Given the description of an element on the screen output the (x, y) to click on. 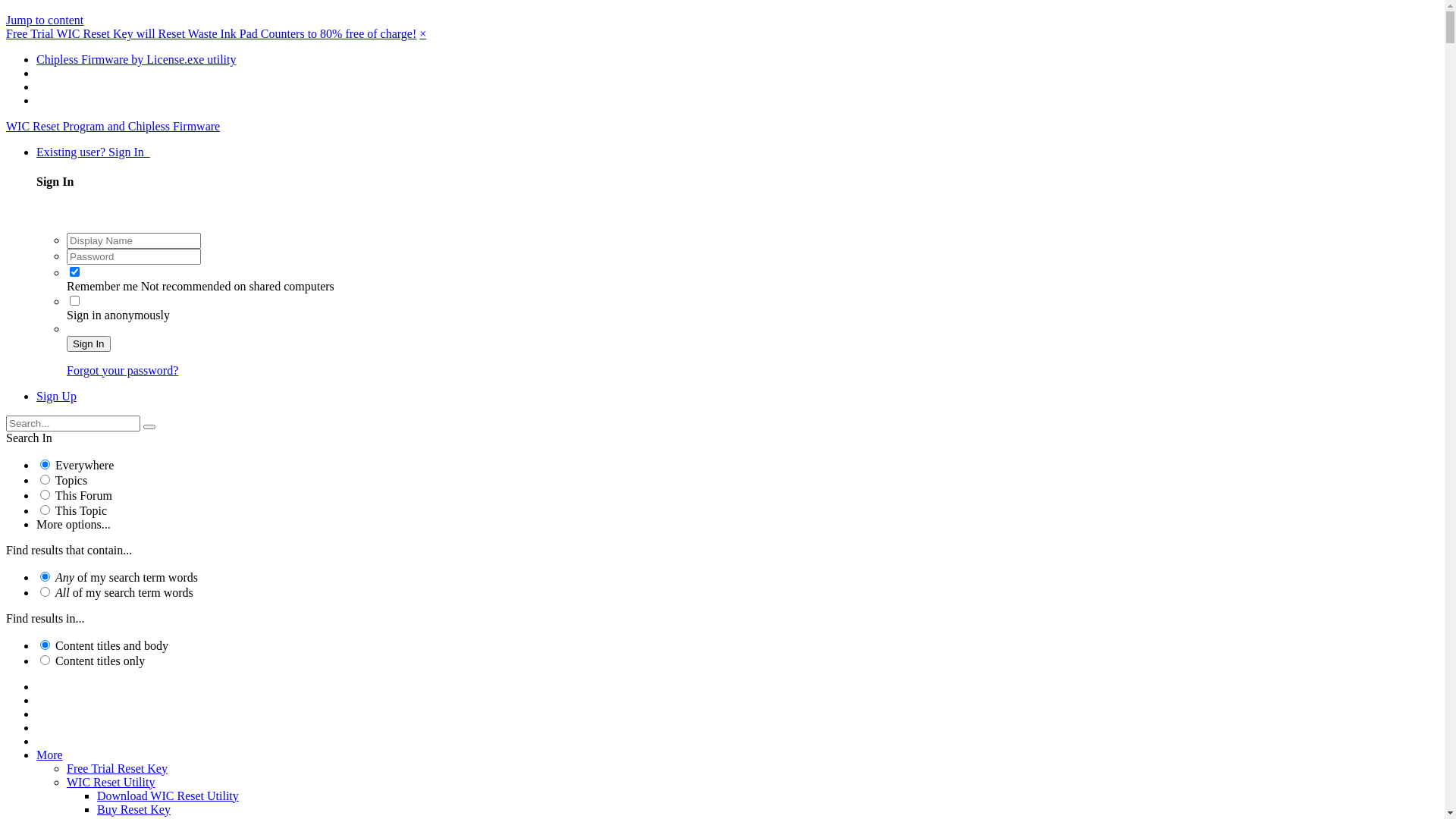
Download WIC Reset Utility Element type: text (167, 795)
WIC Reset Program and Chipless Firmware Element type: text (112, 125)
Jump to content Element type: text (44, 19)
Sign In Element type: text (88, 343)
Existing user? Sign In   Element type: text (93, 151)
WIC Reset Utility Element type: text (110, 781)
Sign Up Element type: text (56, 395)
Buy Reset Key Element type: text (133, 809)
Chipless Firmware by License.exe utility Element type: text (136, 59)
Forgot your password? Element type: text (122, 370)
More Element type: text (49, 754)
Free Trial Reset Key Element type: text (116, 768)
